Given the description of an element on the screen output the (x, y) to click on. 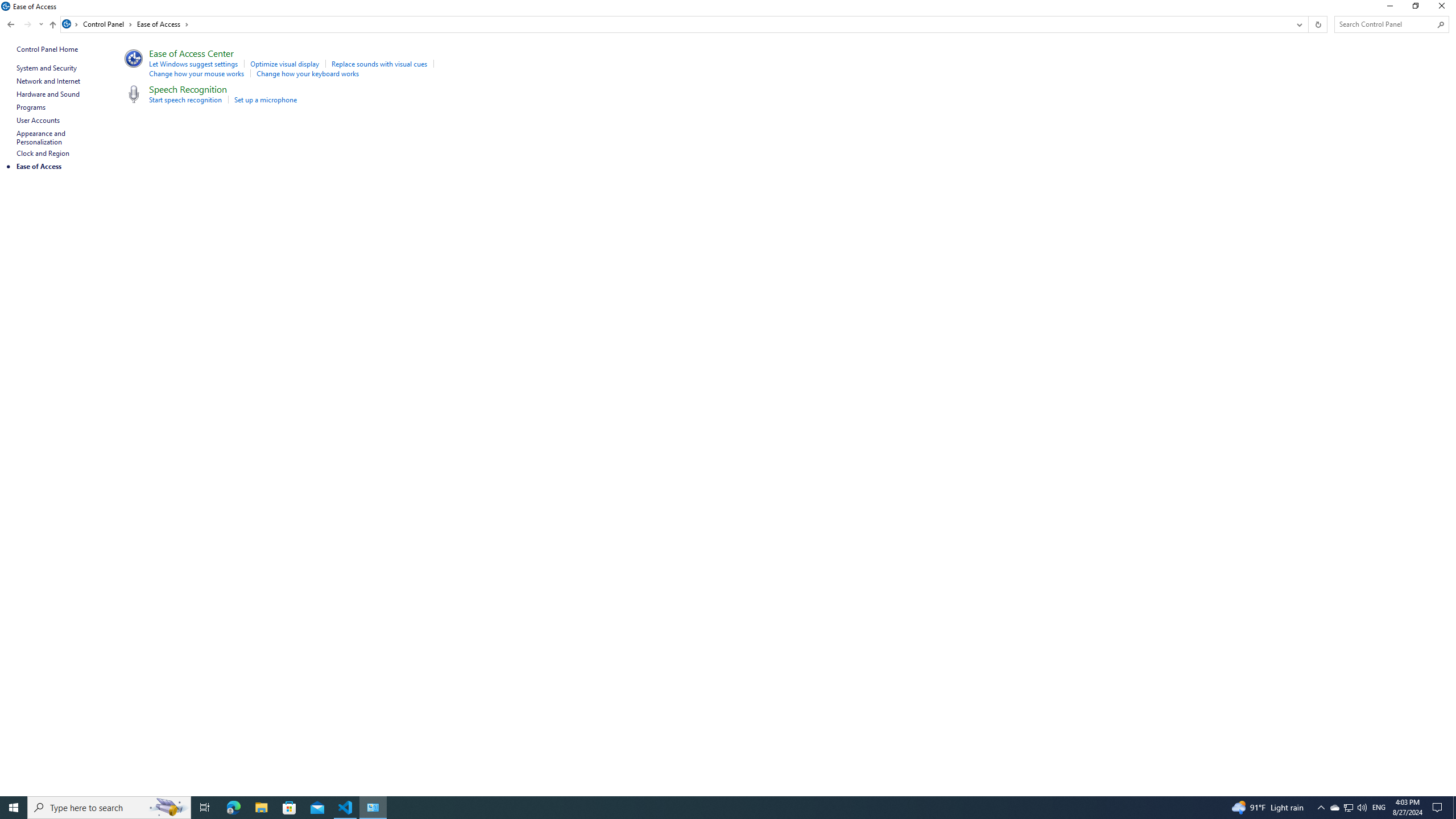
Recent locations (40, 23)
Control Panel - 1 running window (373, 807)
Back to Clock and Region (Alt + Left Arrow) (10, 23)
Minimize (1388, 8)
Change how your keyboard works (306, 73)
Appearance and Personalization (42, 137)
Replace sounds with visual cues (379, 63)
Search (1441, 24)
Control Panel Home (47, 49)
Let Windows suggest settings (193, 63)
Address band toolbar (1308, 23)
Network and Internet (48, 80)
